Given the description of an element on the screen output the (x, y) to click on. 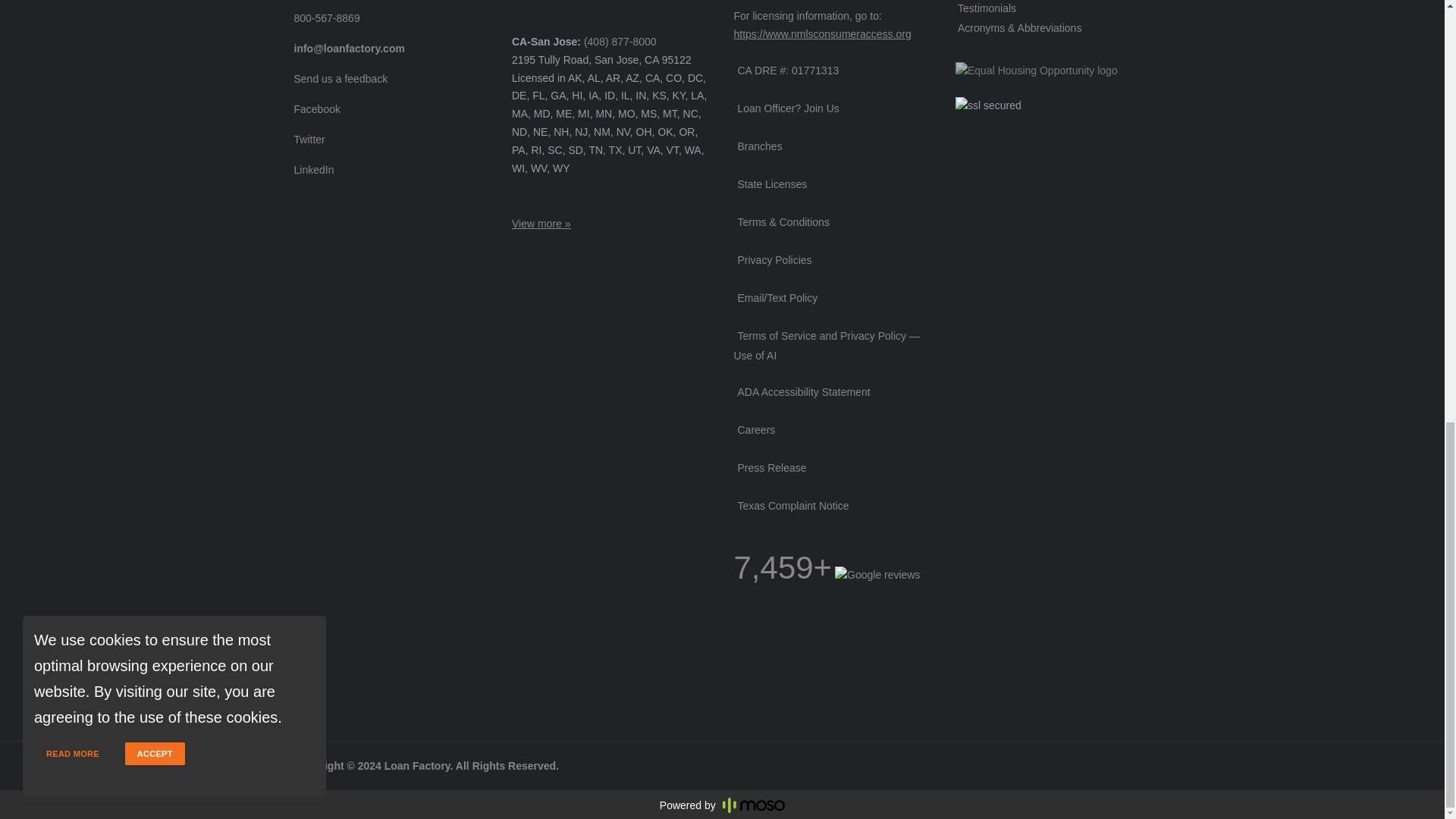
800-567-8869 (324, 18)
Loan Factory, Mortgage Broker, San Jose, CA (779, 650)
Facebook (314, 109)
Send us a feedback (338, 78)
